Given the description of an element on the screen output the (x, y) to click on. 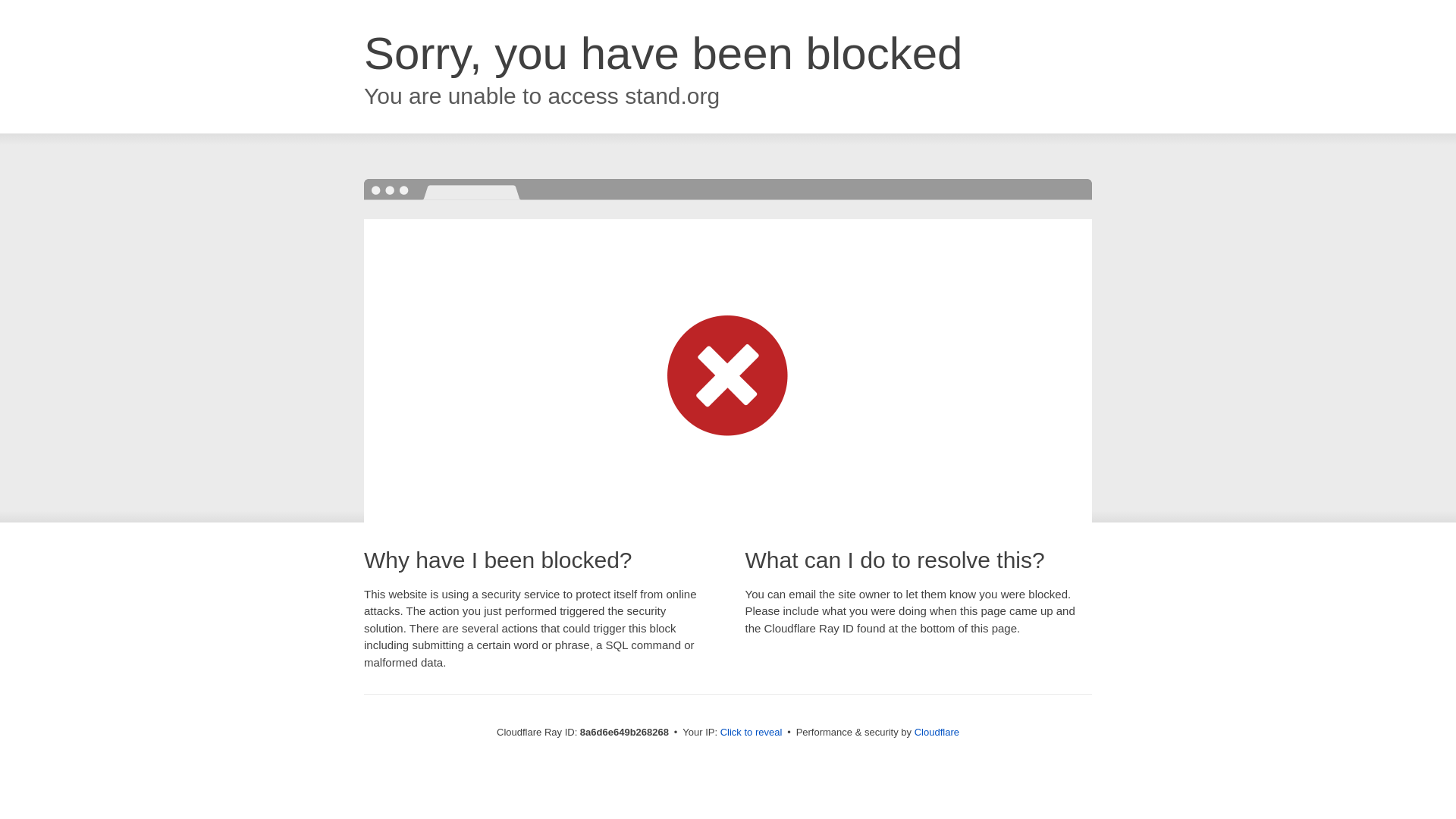
Cloudflare (936, 731)
Click to reveal (751, 732)
